Given the description of an element on the screen output the (x, y) to click on. 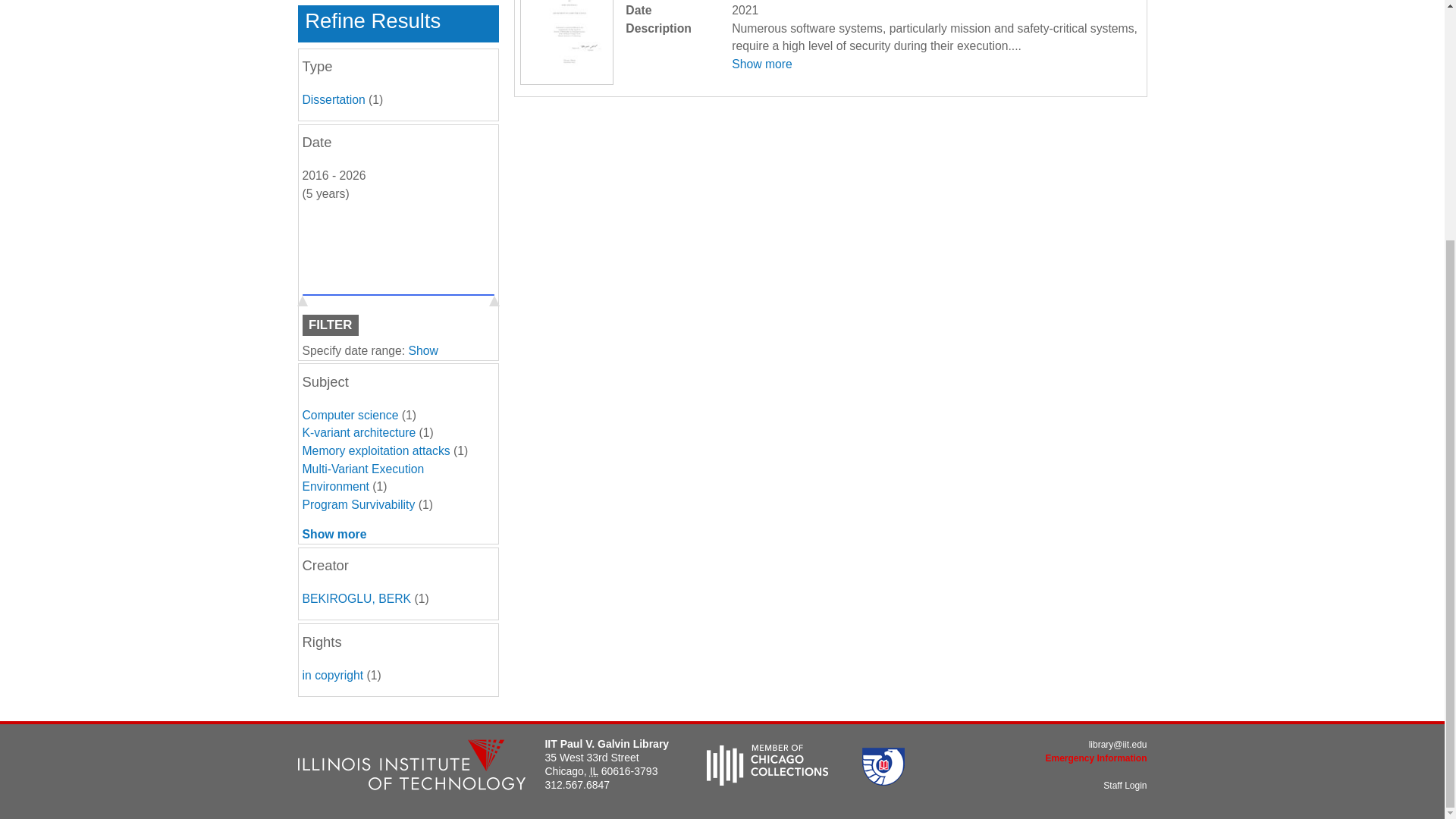
Show more (762, 63)
Emergency Information (1096, 757)
Federal Depository Library Program (882, 780)
Show (423, 350)
Computer science (349, 414)
Multi-Variant Execution Environment (362, 477)
Dissertation (333, 99)
Illinois Institute of Technology (410, 767)
Filter (329, 324)
Memory exploitation attacks (375, 450)
